Given the description of an element on the screen output the (x, y) to click on. 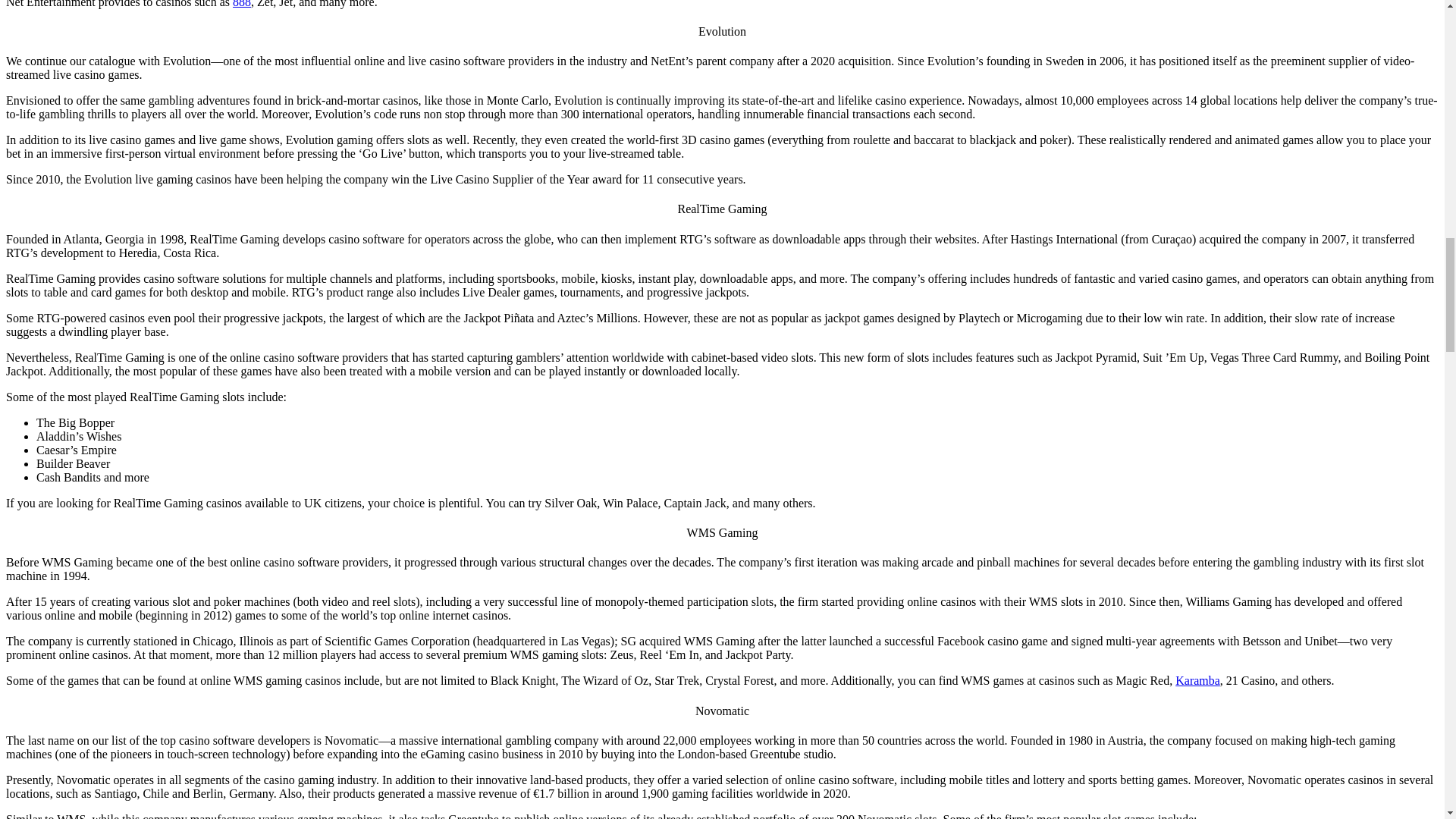
Karamba (1197, 680)
888 (241, 4)
